Given the description of an element on the screen output the (x, y) to click on. 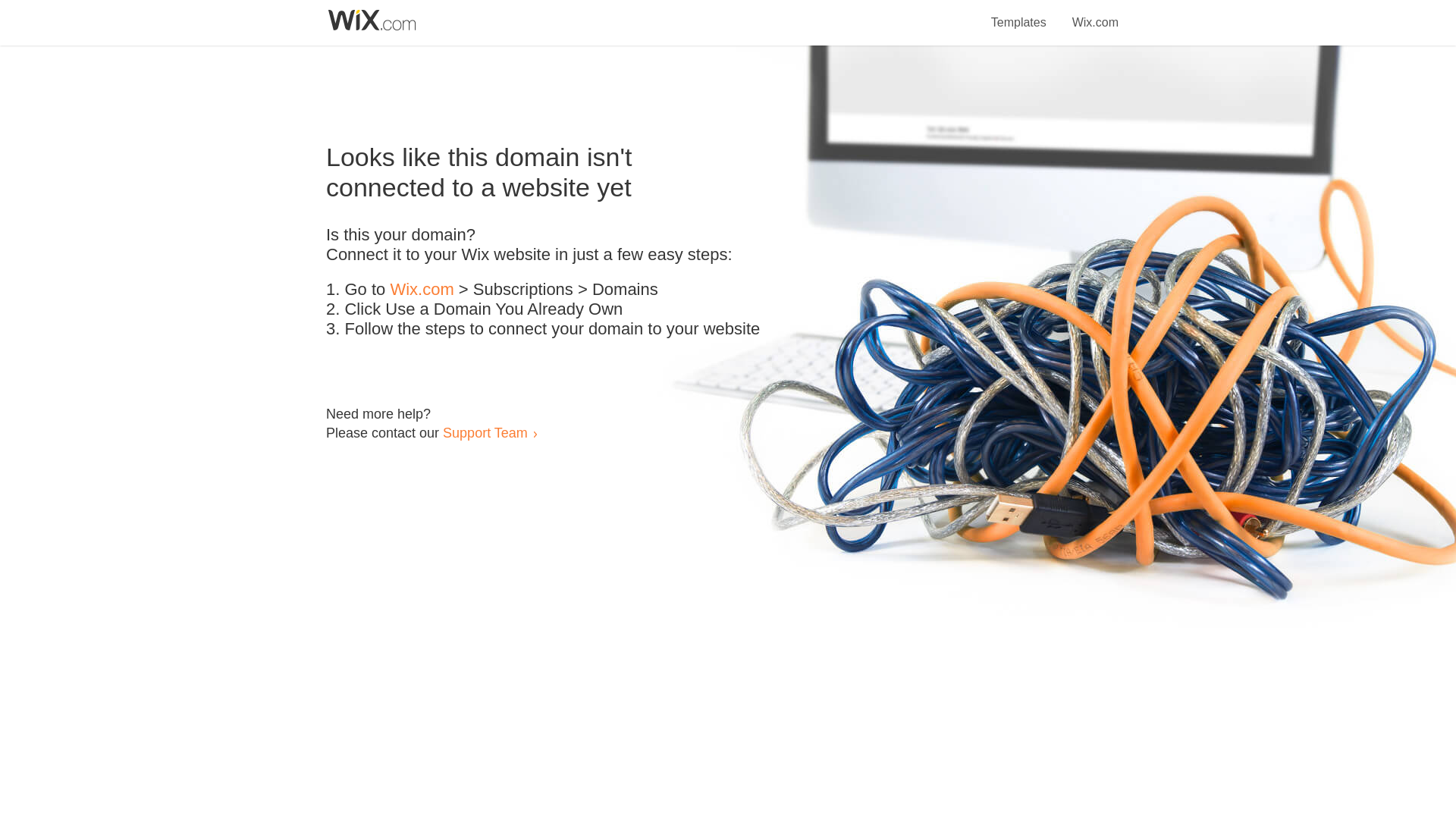
Wix.com (1095, 14)
Support Team (484, 432)
Wix.com (421, 289)
Templates (1018, 14)
